Given the description of an element on the screen output the (x, y) to click on. 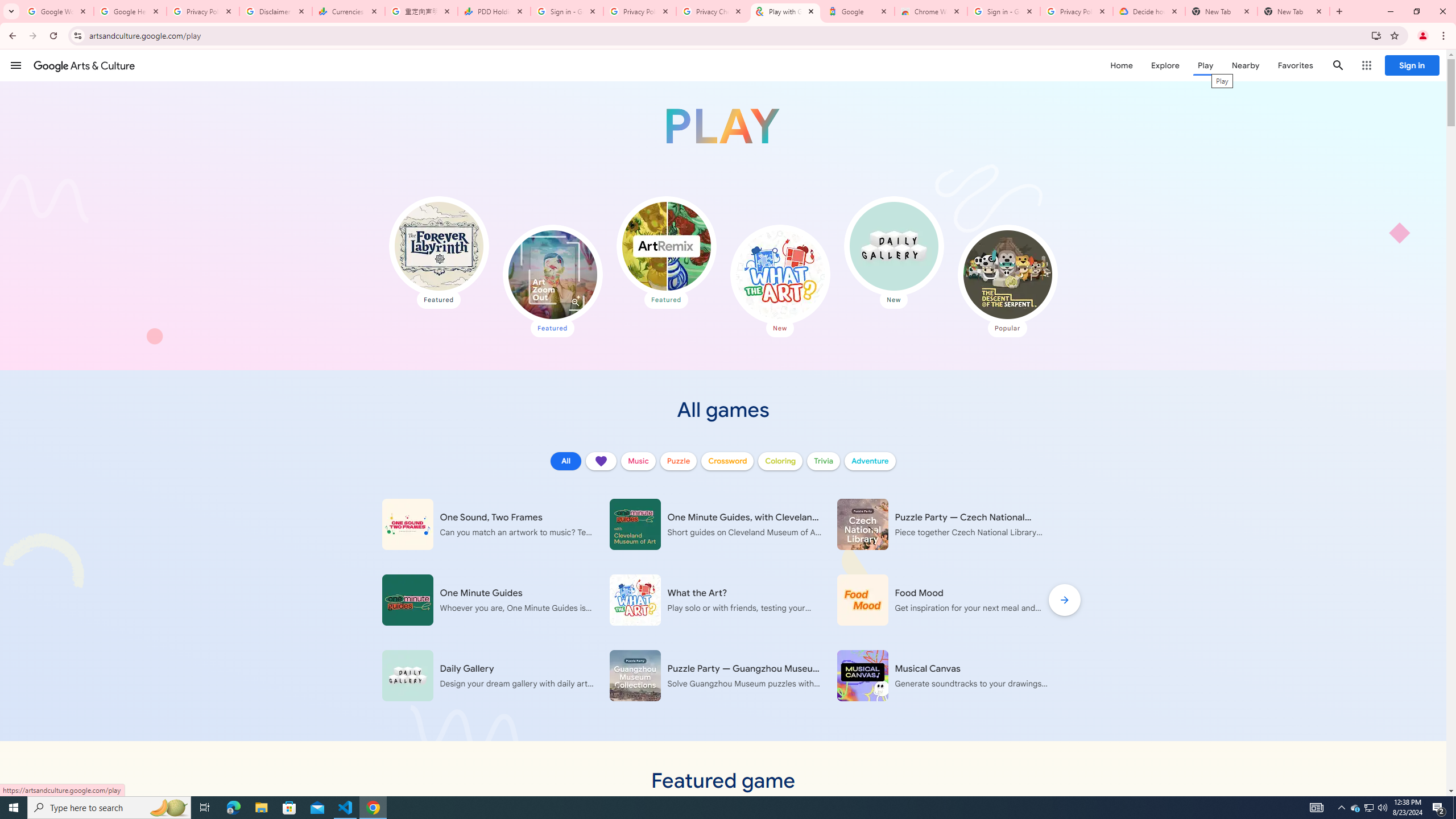
Menu (15, 65)
Google Arts & Culture (84, 65)
Chrome Web Store - Color themes by Chrome (930, 11)
Nearby (1244, 65)
The Descent of the Serpent (1007, 274)
Play (1205, 65)
Sign in - Google Accounts (1003, 11)
